Given the description of an element on the screen output the (x, y) to click on. 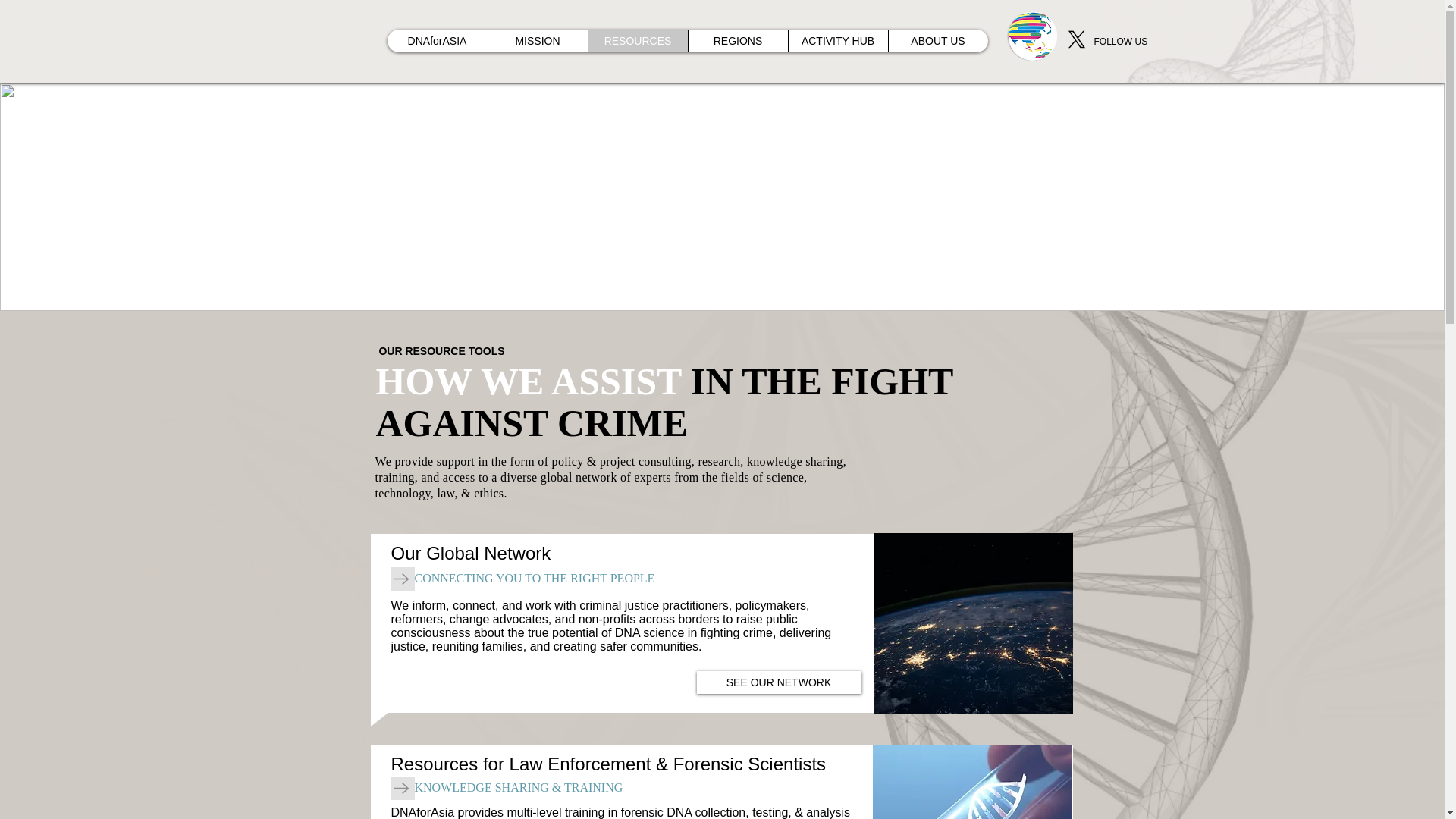
ACTIVITY HUB (836, 40)
DNAforASIA (436, 40)
REGIONS (737, 40)
ABOUT US (936, 40)
RESOURCES (636, 40)
MISSION (536, 40)
